Given the description of an element on the screen output the (x, y) to click on. 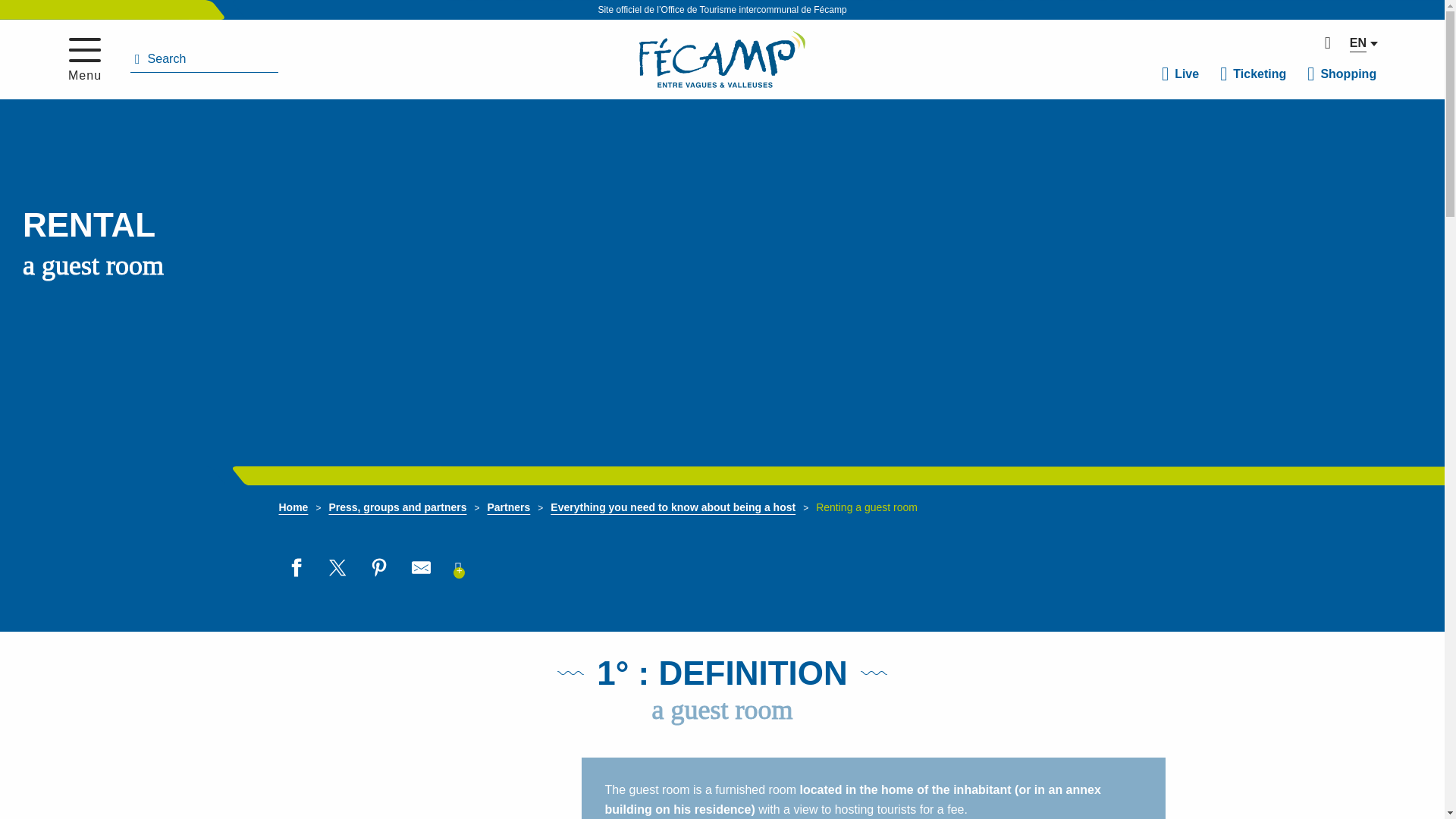
Everything you need to know about being a host (672, 507)
Share on Facebook (296, 567)
Home (293, 507)
Partners (507, 507)
Press, groups and partners (397, 507)
Share by email (420, 567)
Share on Pinterest (379, 567)
Share on Twitter (336, 567)
